Given the description of an element on the screen output the (x, y) to click on. 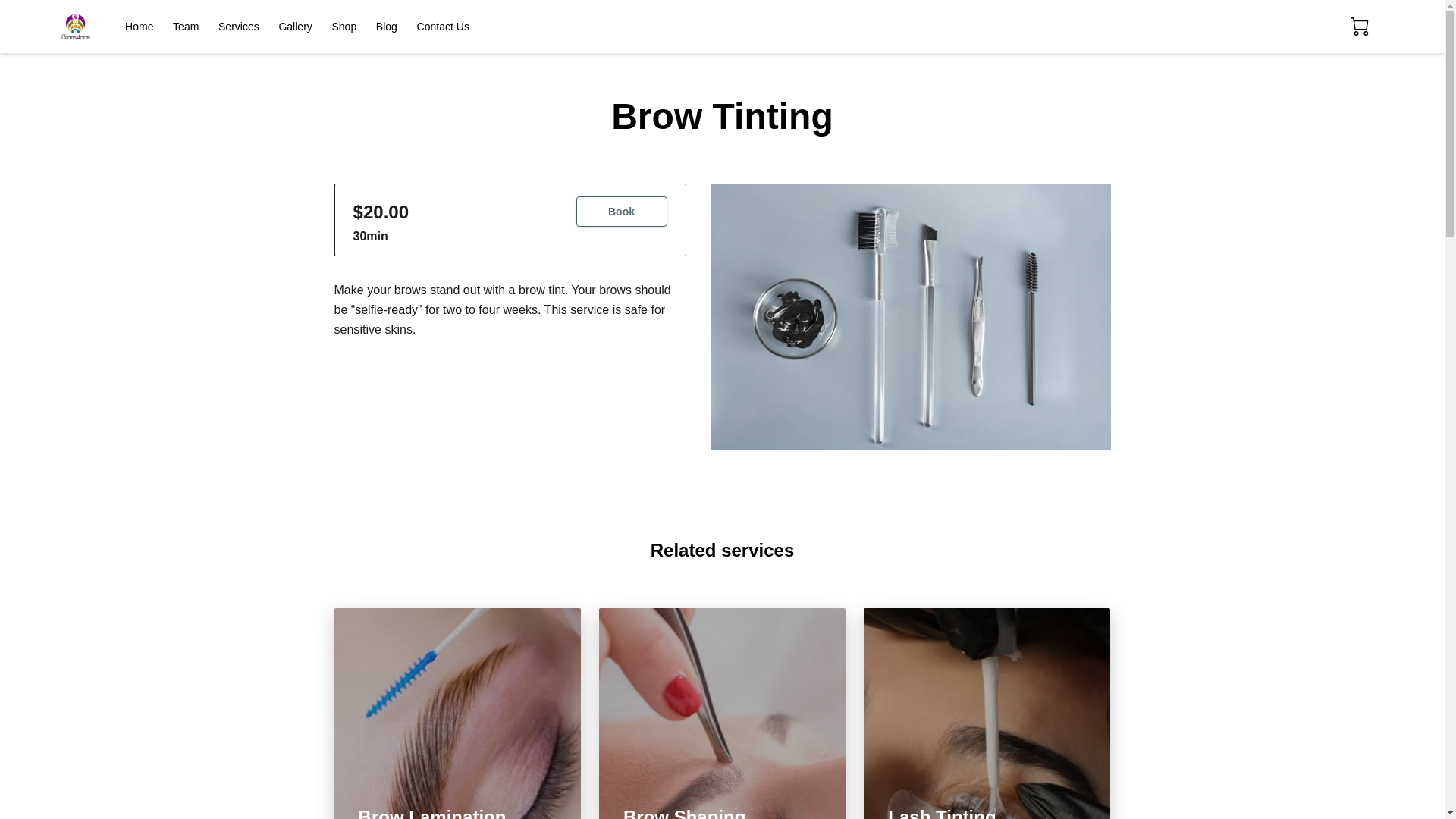
Contact Us (442, 26)
Home (138, 26)
Book (621, 211)
Blog (386, 26)
0 (1359, 26)
Gallery (294, 26)
Shop (343, 26)
Services (238, 26)
Team (185, 26)
